Given the description of an element on the screen output the (x, y) to click on. 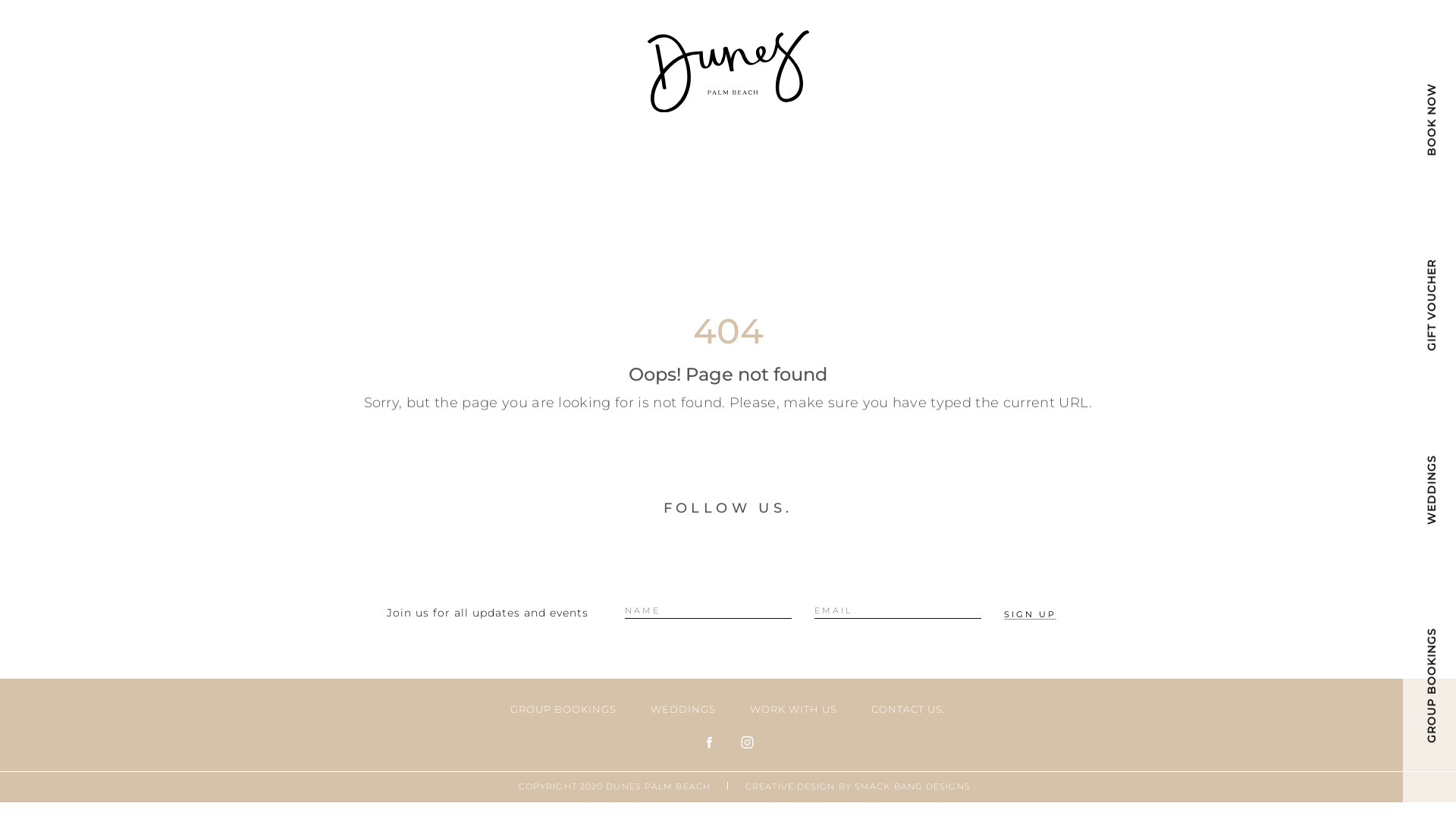
WORK WITH US Element type: text (793, 708)
Dunes-Logo-Black Element type: text (728, 70)
GROUP BOOKINGS Element type: text (563, 708)
CONTACT US. Element type: text (908, 708)
Sign up Element type: text (1030, 614)
WEDDINGS Element type: text (682, 708)
SMACK BANG DESIGNS Element type: text (912, 786)
